Given the description of an element on the screen output the (x, y) to click on. 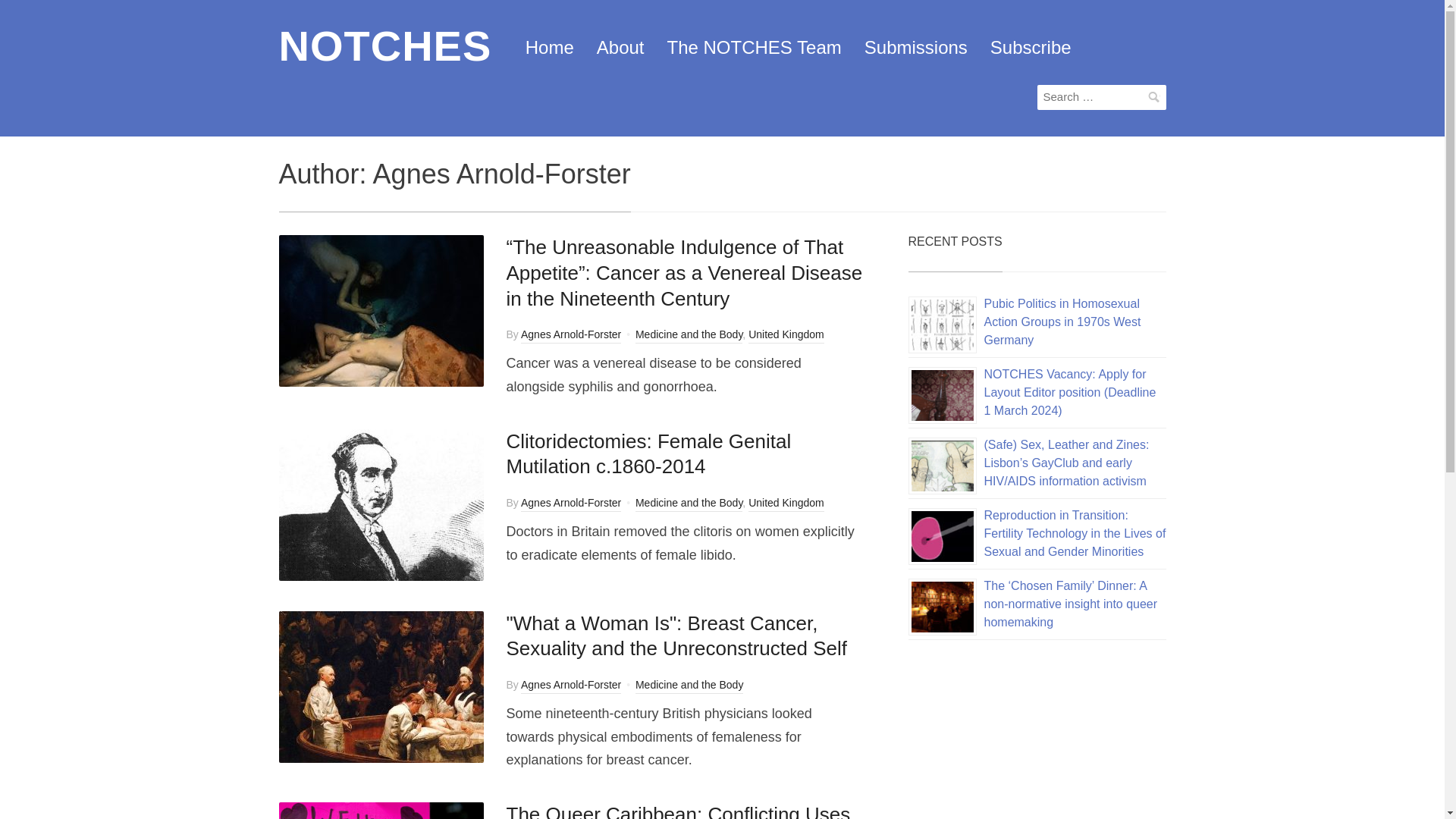
Search (1154, 96)
Subscribe (1030, 48)
Agnes Arnold-Forster (571, 503)
Submissions (916, 48)
Search (1154, 96)
The NOTCHES Team (753, 48)
About (620, 48)
United Kingdom (786, 503)
Clitoridectomies: Female Genital Mutilation c.1860-2014 (649, 453)
United Kingdom (786, 335)
Posts by Agnes Arnold-Forster (571, 335)
Posts by Agnes Arnold-Forster (571, 685)
Posts by Agnes Arnold-Forster (571, 503)
